Given the description of an element on the screen output the (x, y) to click on. 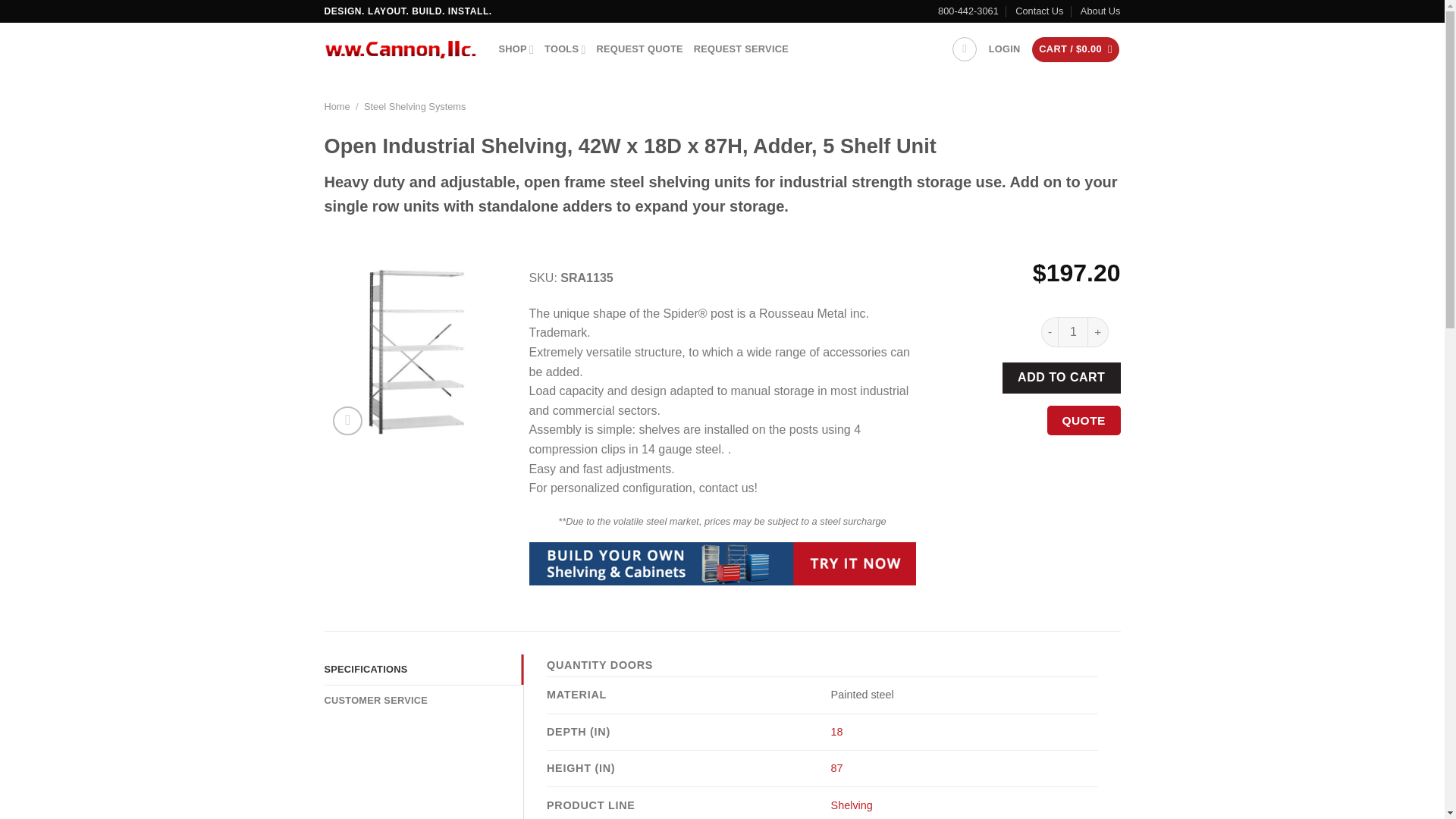
ADD TO CART (1062, 377)
REQUEST QUOTE (639, 49)
800-442-3061 (967, 11)
- (1049, 331)
QUOTE (1083, 418)
Home (337, 106)
1 (1072, 331)
TOOLS (564, 49)
QUOTE (1083, 419)
Cart (1075, 49)
REQUEST SERVICE (741, 49)
Contact Us (1038, 11)
LOGIN (1004, 49)
About Us (1100, 11)
